Given the description of an element on the screen output the (x, y) to click on. 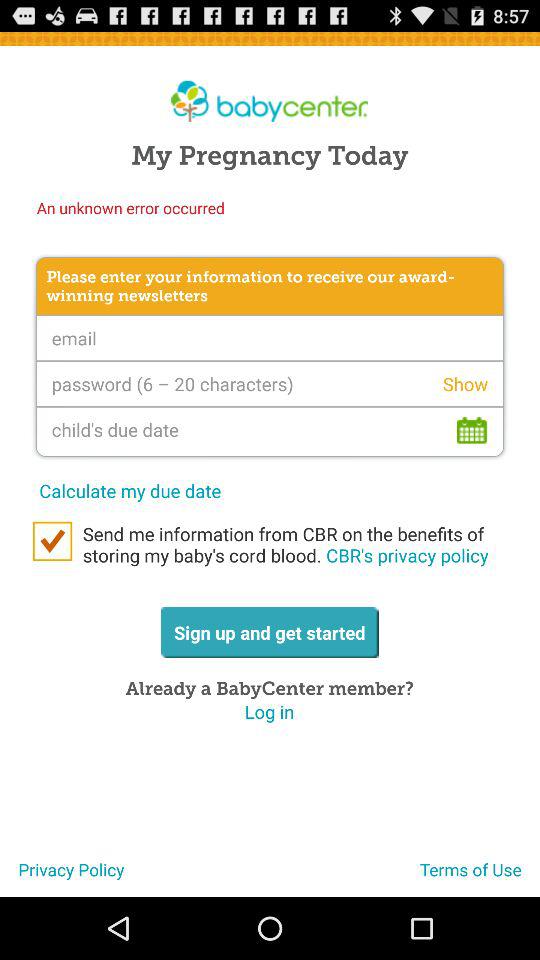
jump to the terms of use icon (480, 877)
